Given the description of an element on the screen output the (x, y) to click on. 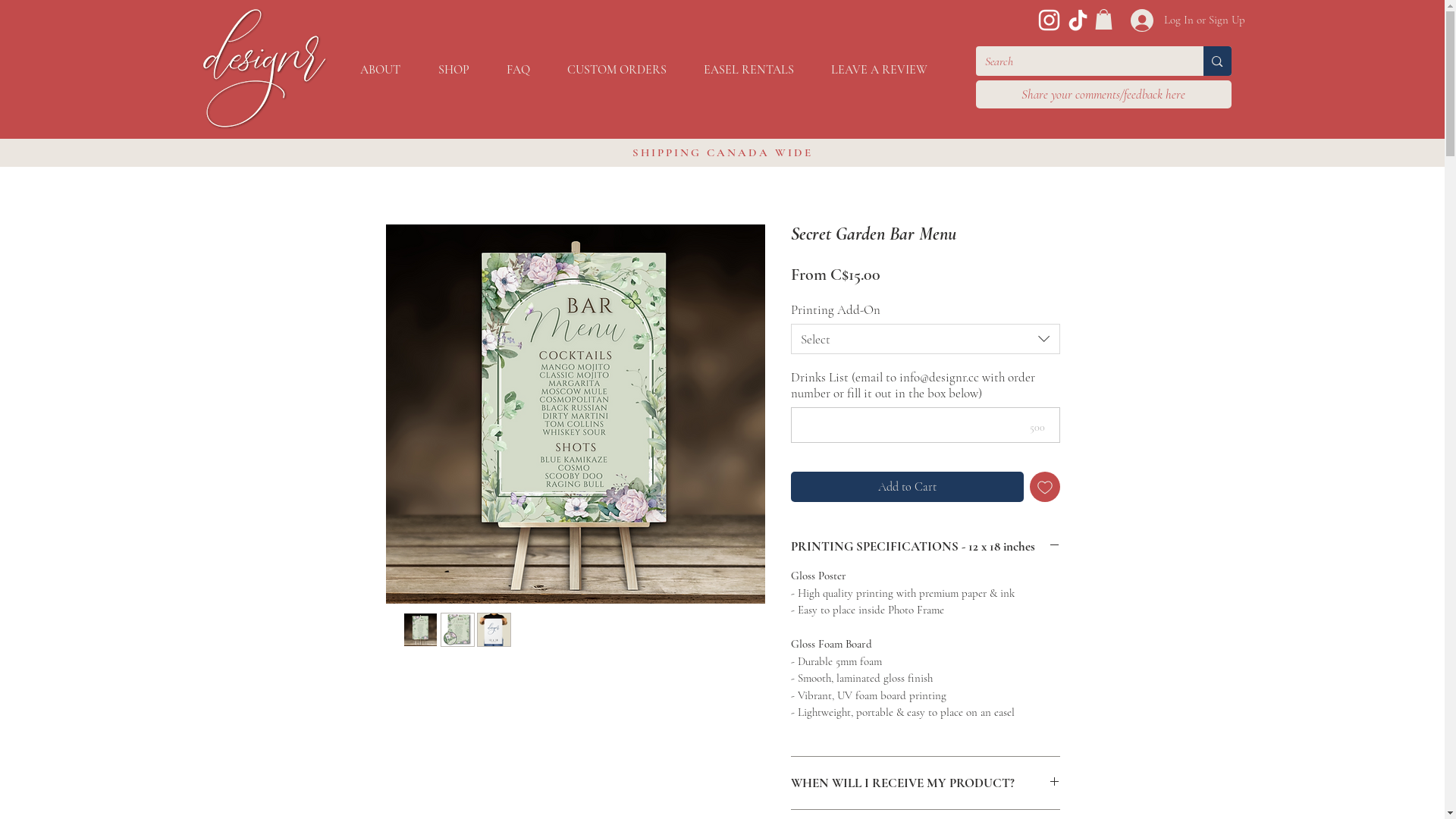
Add to Cart Element type: text (906, 486)
FAQ Element type: text (518, 69)
ABOUT Element type: text (380, 69)
PRINTING SPECIFICATIONS - 12 x 18 inches Element type: text (924, 546)
CUSTOM ORDERS Element type: text (617, 69)
Log In or Sign Up Element type: text (1187, 20)
EASEL RENTALS Element type: text (748, 69)
WHEN WILL I RECEIVE MY PRODUCT? Element type: text (924, 782)
Select Element type: text (924, 338)
LEAVE A REVIEW Element type: text (879, 69)
Share your comments/feedback here Element type: text (1102, 94)
0 Element type: text (1103, 19)
